Given the description of an element on the screen output the (x, y) to click on. 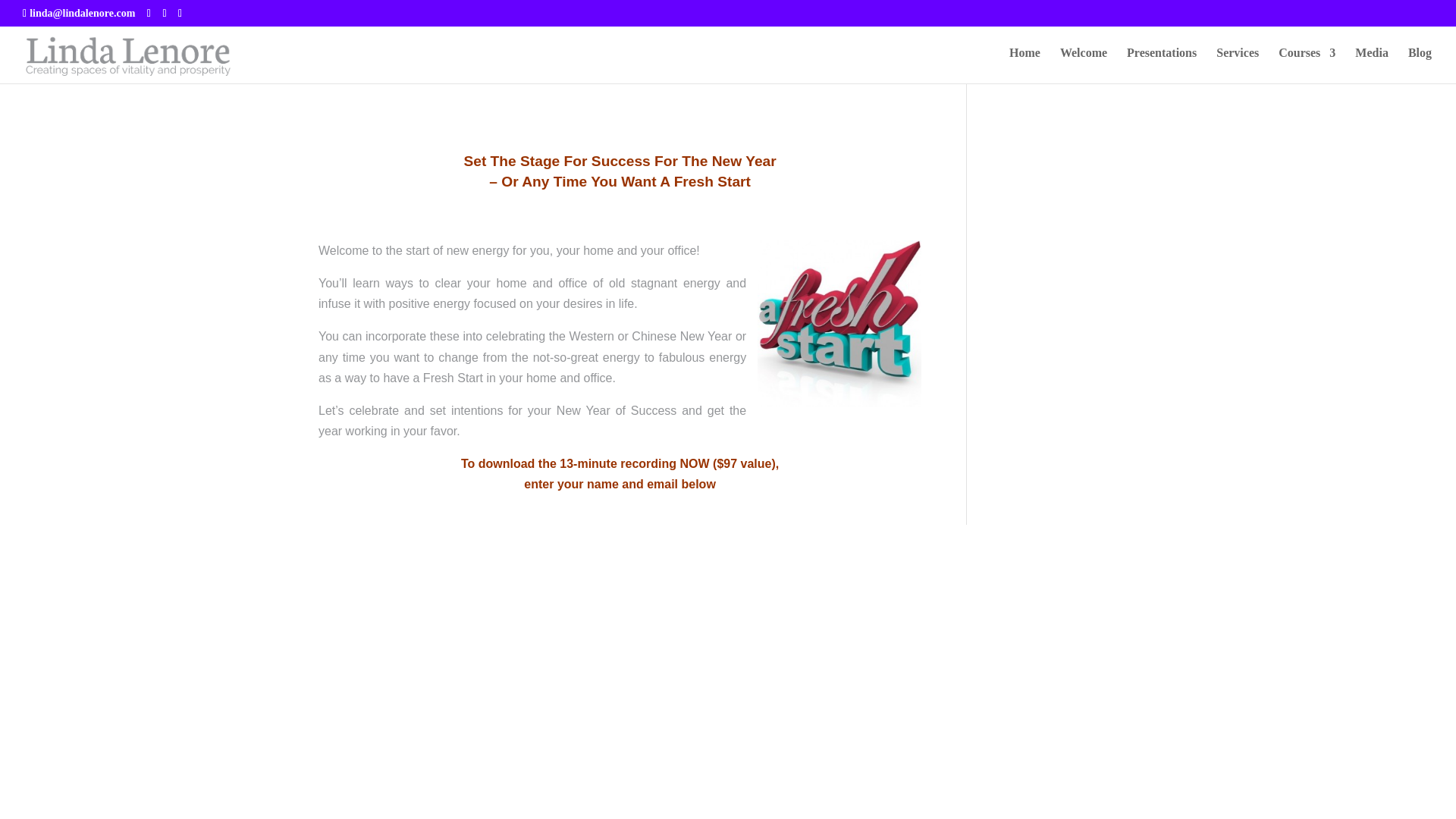
Services (1237, 65)
Media (1372, 65)
Presentations (1161, 65)
Welcome (1082, 65)
Courses (1306, 65)
